Given the description of an element on the screen output the (x, y) to click on. 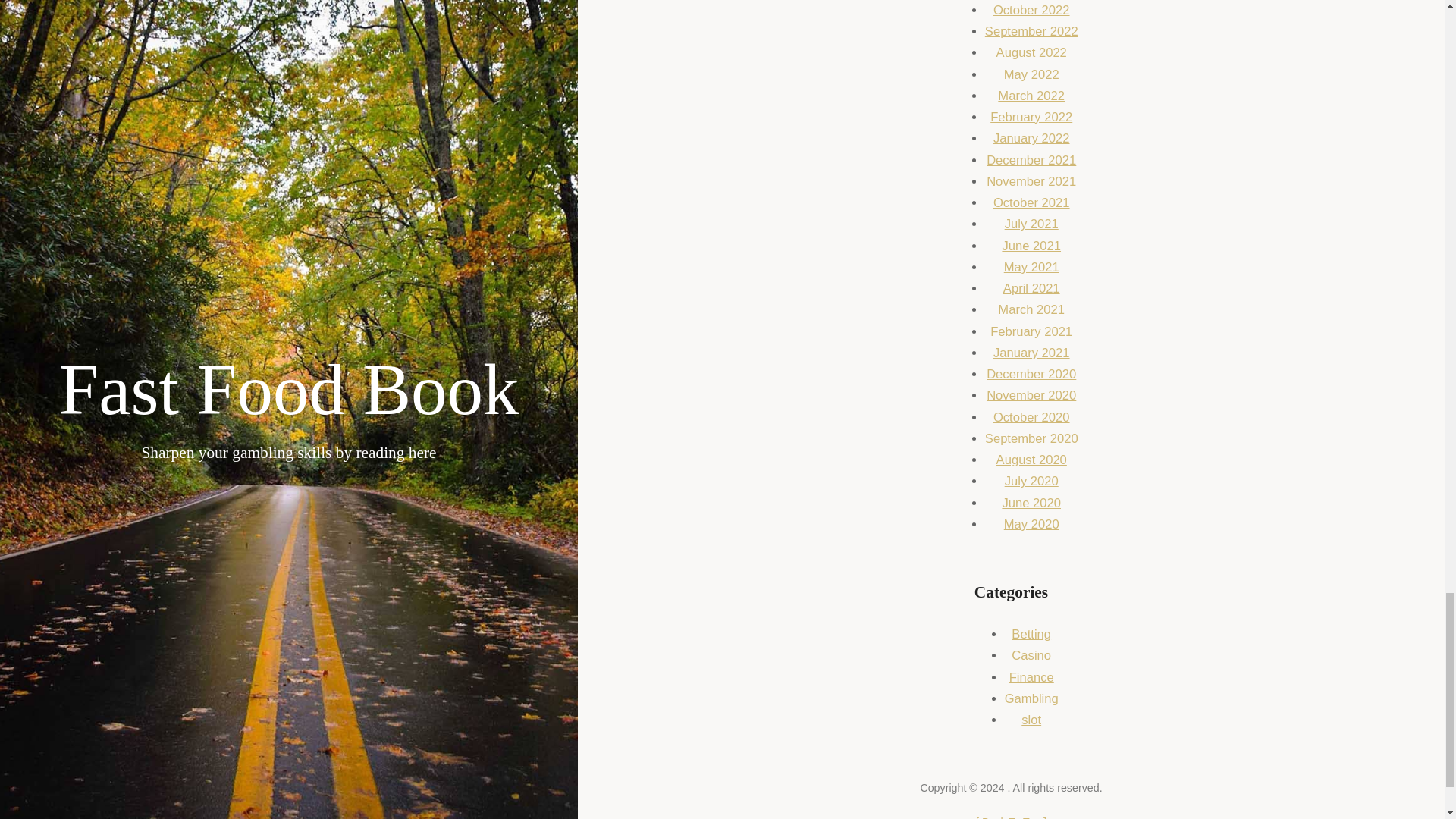
October 2022 (1031, 10)
August 2022 (1031, 52)
March 2022 (1030, 95)
February 2022 (1030, 116)
September 2022 (1031, 31)
Back To Top (1010, 817)
May 2022 (1031, 74)
December 2021 (1031, 160)
November 2021 (1031, 181)
January 2022 (1031, 138)
